Given the description of an element on the screen output the (x, y) to click on. 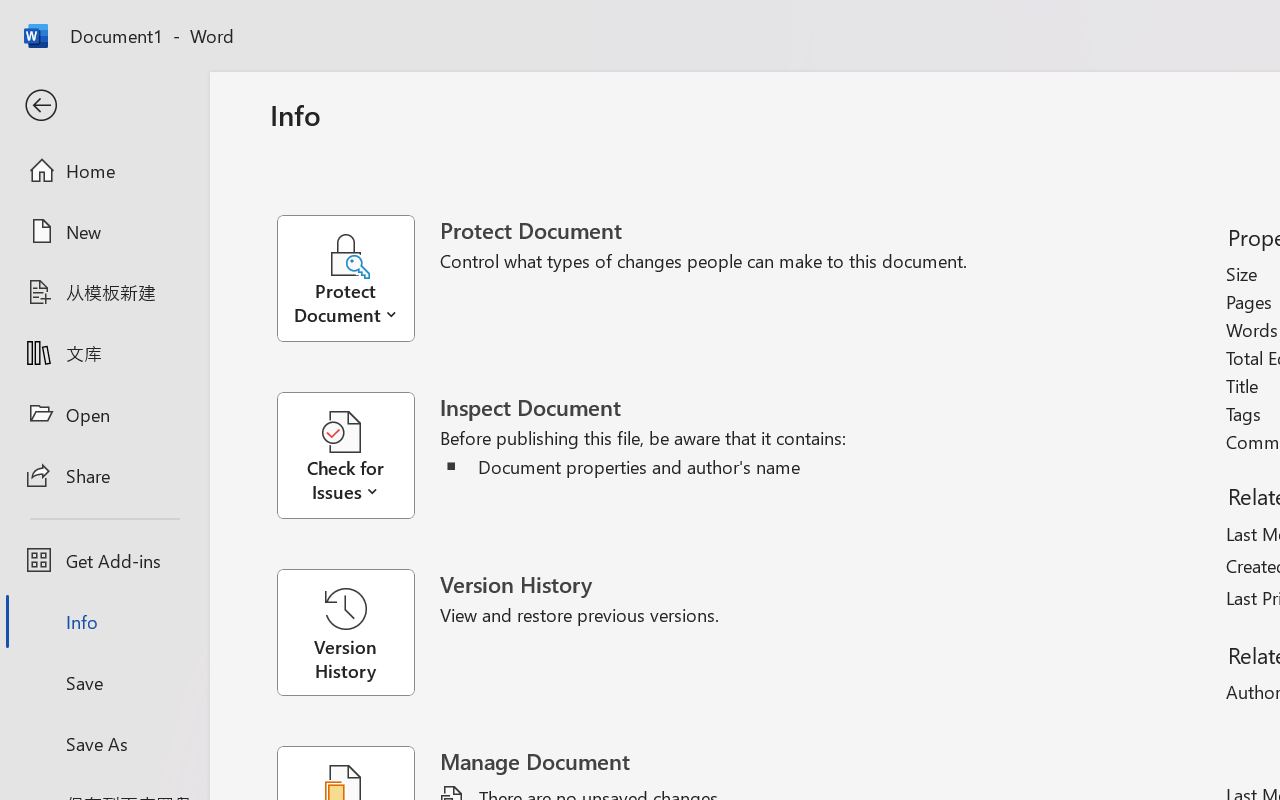
New (104, 231)
